Given the description of an element on the screen output the (x, y) to click on. 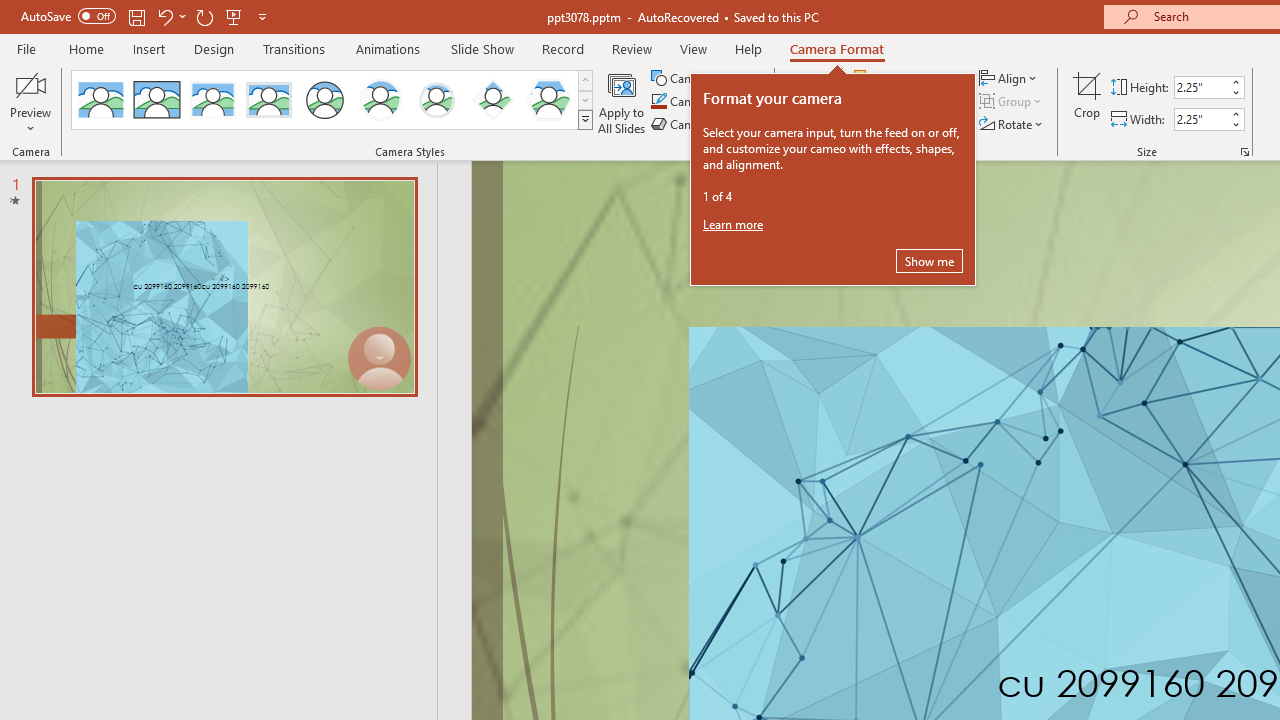
Learn more (734, 224)
Soft Edge Circle (436, 100)
Simple Frame Rectangle (157, 100)
Apply to All Slides (621, 102)
Send Backward (905, 101)
Center Shadow Circle (381, 100)
Camera Format (836, 48)
Show me (929, 260)
